Given the description of an element on the screen output the (x, y) to click on. 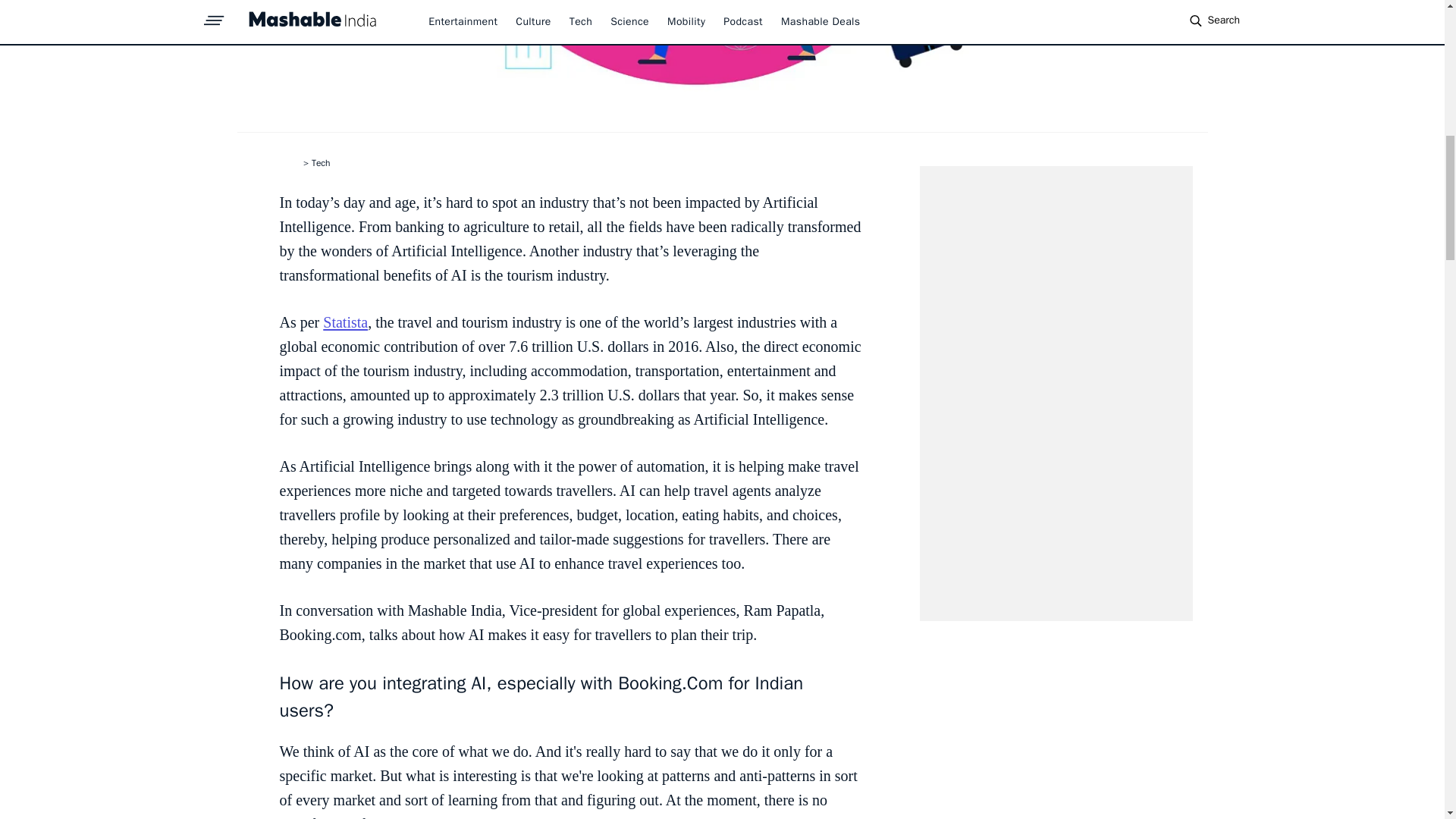
Statista (345, 321)
